Given the description of an element on the screen output the (x, y) to click on. 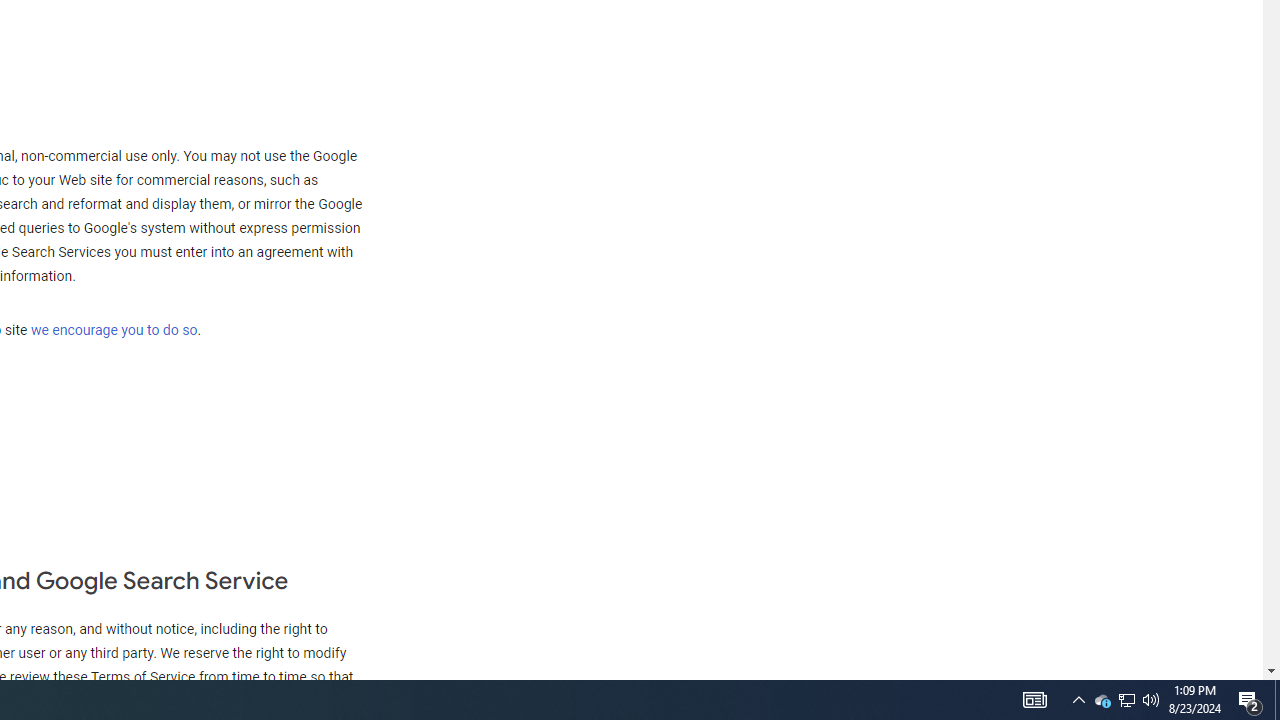
we encourage you to do so (113, 330)
